Given the description of an element on the screen output the (x, y) to click on. 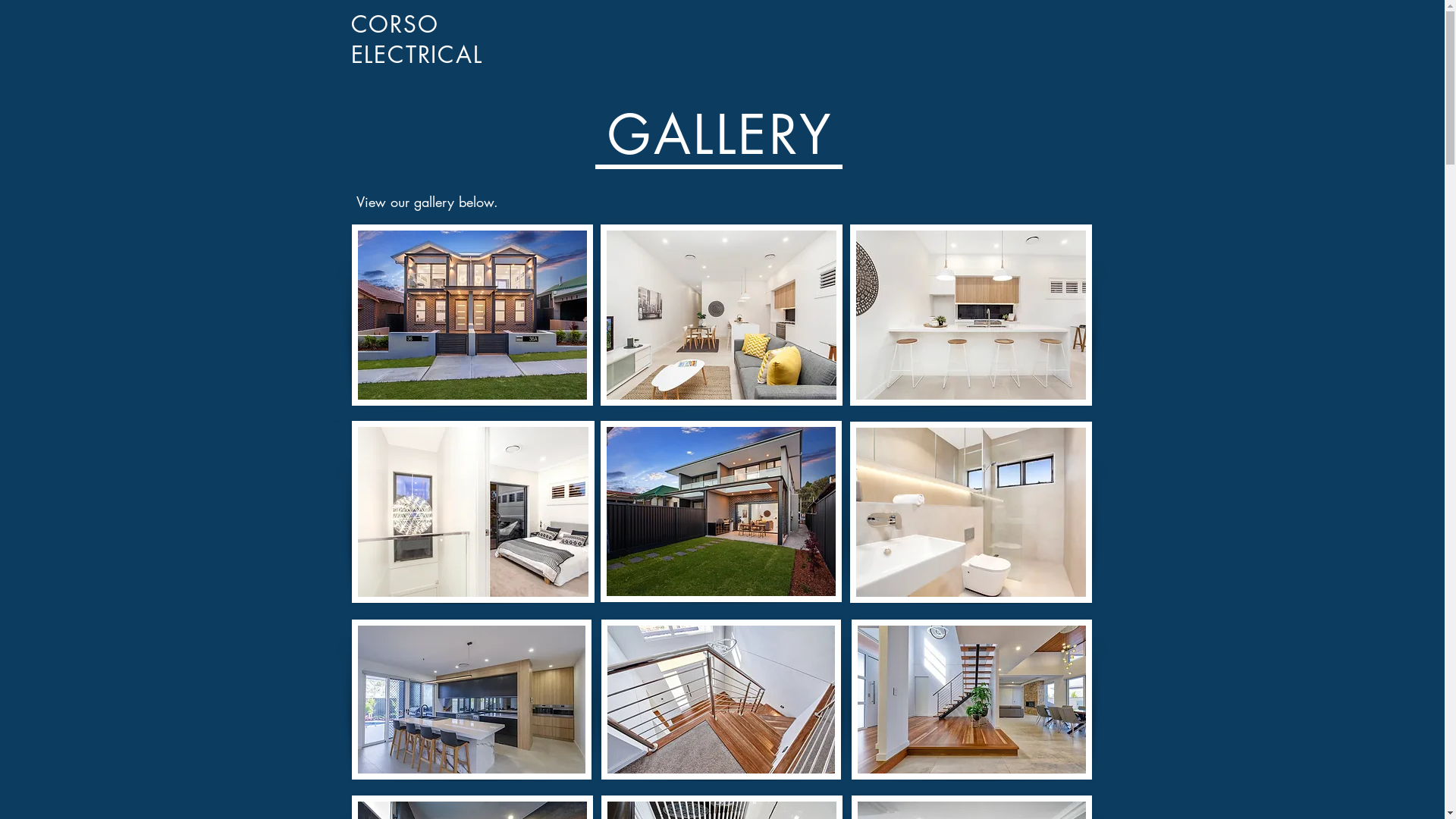
Zenith Homes Kitchen Lighting Element type: hover (471, 699)
ELECTRICAL Element type: text (416, 54)
Zenith Homes Main Bedroom/Feature Pendant Element type: hover (472, 511)
Zenith Homes Alfresco Element type: hover (720, 511)
Zenith Homes LED Strip Lighting Element type: hover (970, 511)
Zenith Homes Lighting Element type: hover (721, 314)
CORSO Element type: text (394, 24)
Zenith Homes Kitchen Lighting Element type: hover (970, 314)
Zenith Homs Feature Pendant Element type: hover (720, 699)
Zenith Homes Front Facade Element type: hover (472, 314)
Zenith Homes Pendants Element type: hover (970, 699)
